Given the description of an element on the screen output the (x, y) to click on. 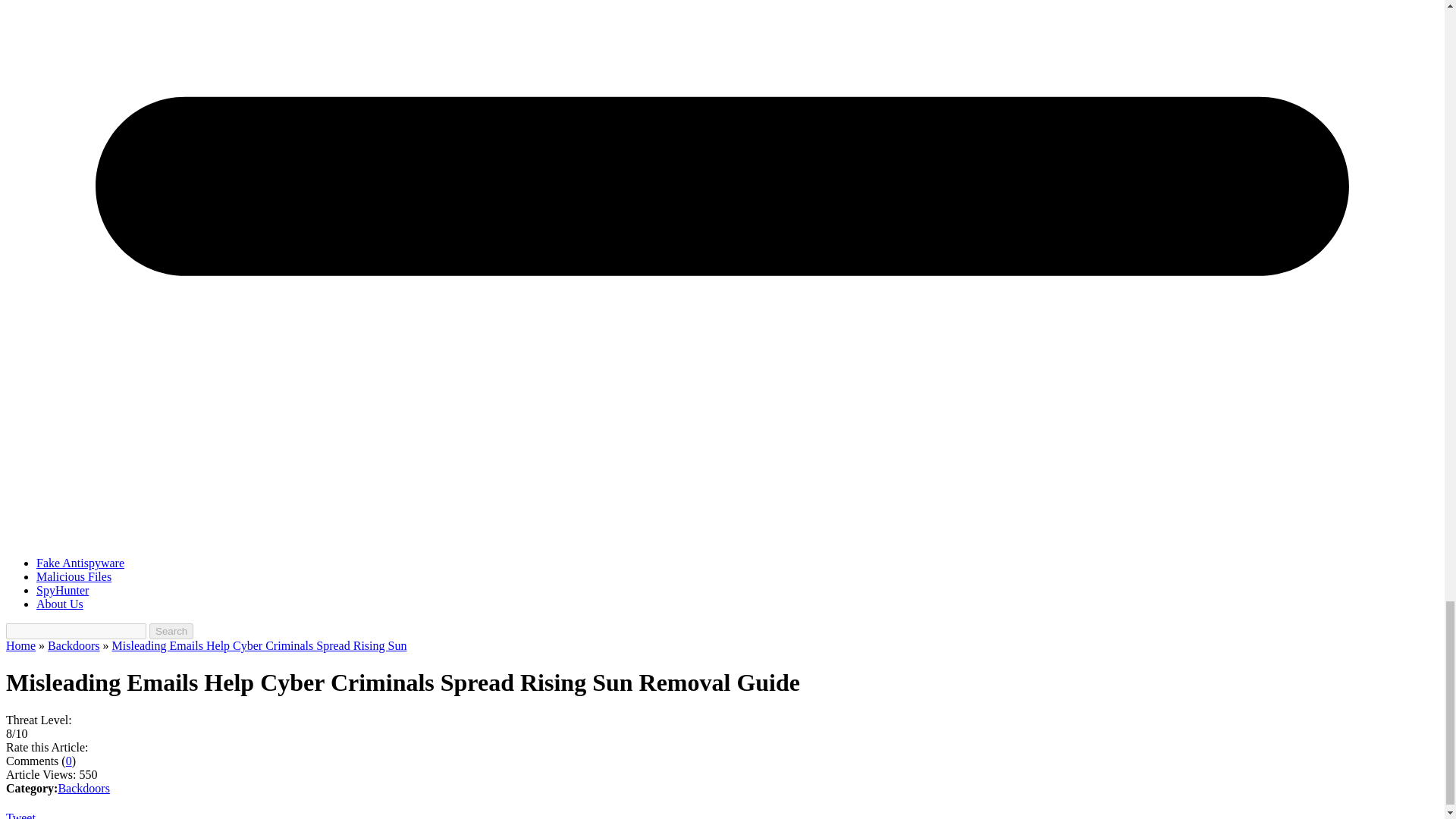
Backdoors (83, 788)
SpyHunter (62, 590)
Home (19, 645)
Misleading Emails Help Cyber Criminals Spread Rising Sun (259, 645)
Fake Antispyware (79, 562)
About Us (59, 603)
Backdoors (73, 645)
0 (68, 760)
Malicious Files (74, 576)
Search (171, 631)
Search (171, 631)
